Given the description of an element on the screen output the (x, y) to click on. 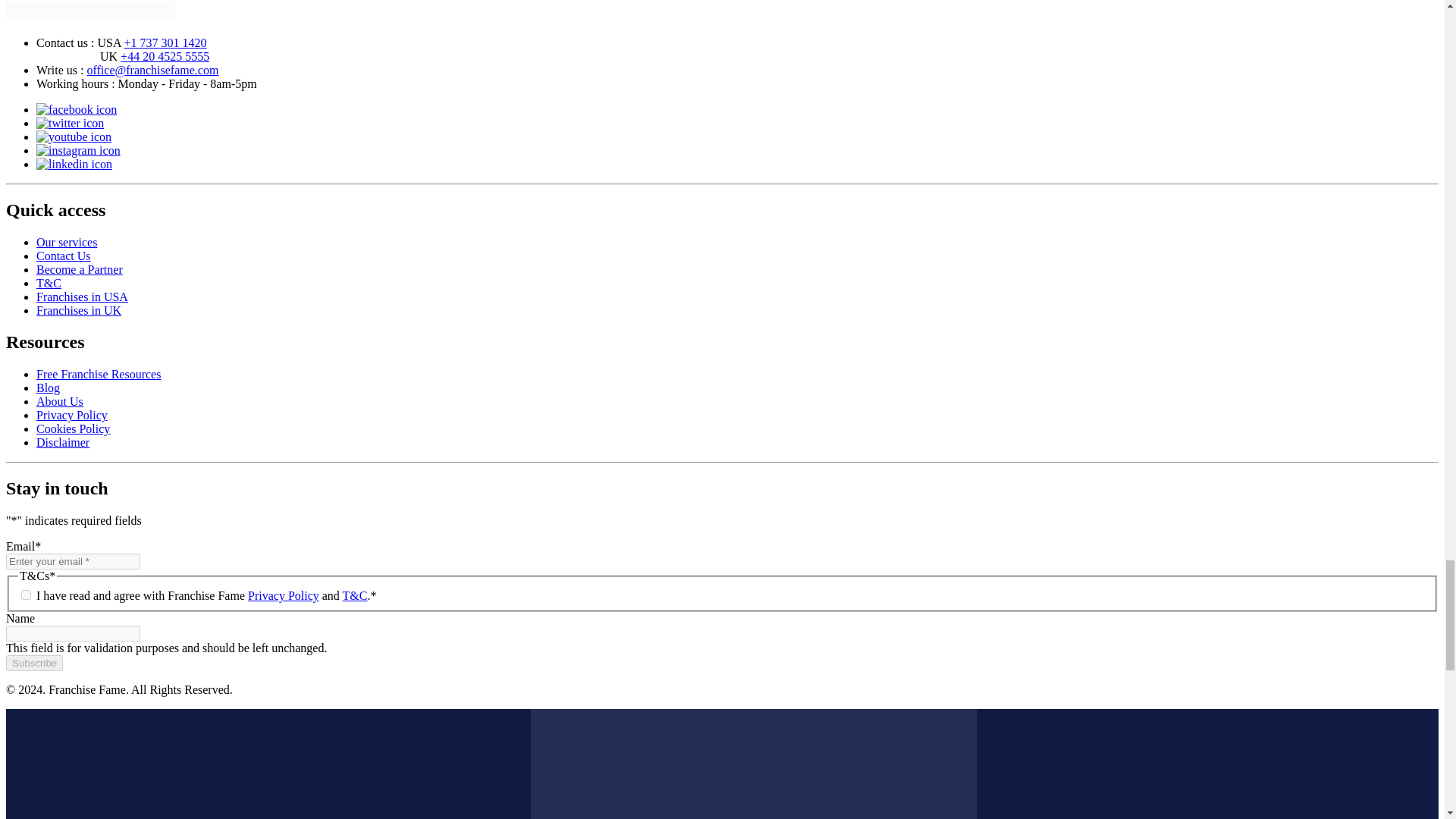
1 (25, 594)
Subscribe (33, 662)
